Given the description of an element on the screen output the (x, y) to click on. 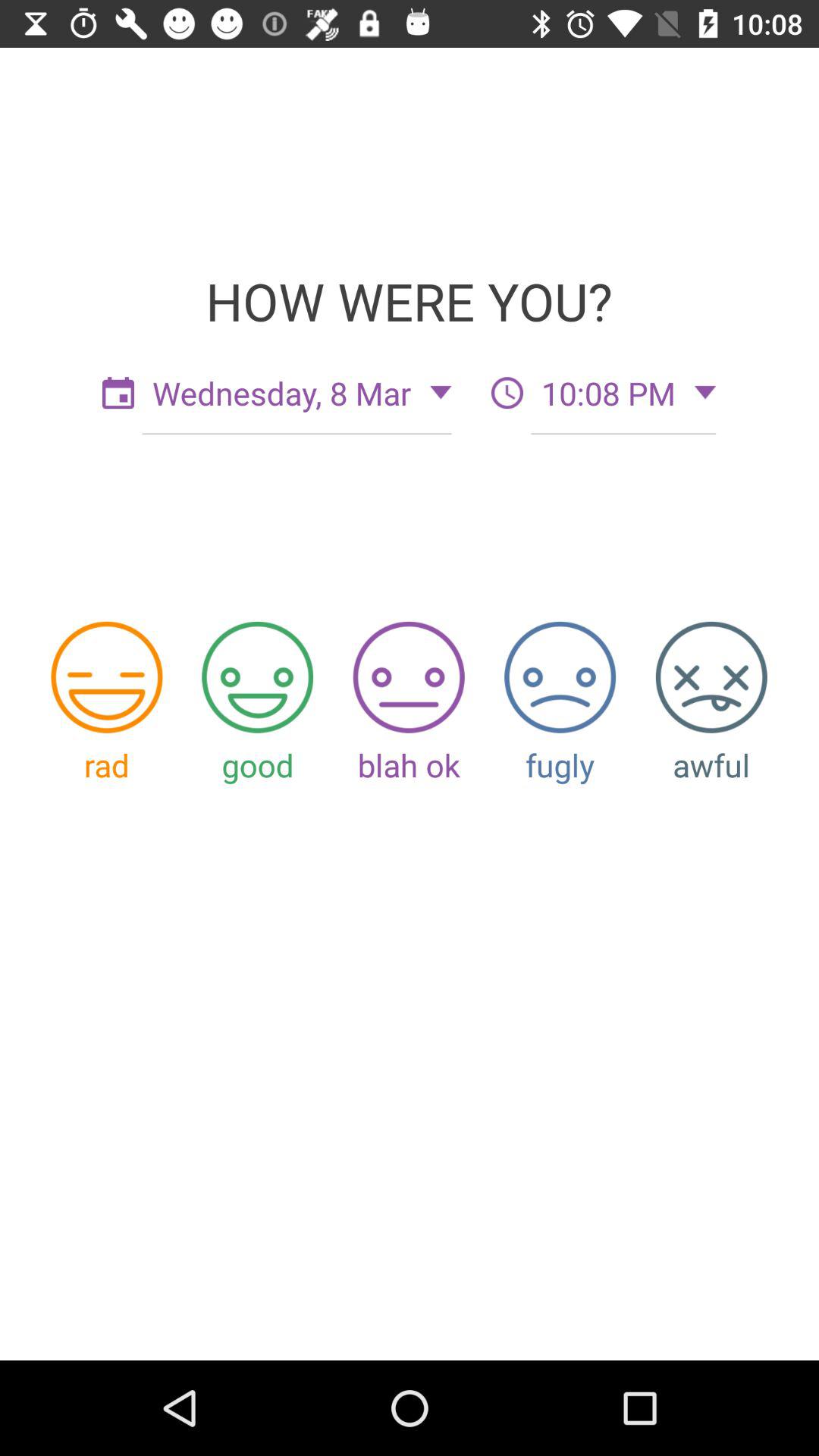
good button (257, 677)
